Given the description of an element on the screen output the (x, y) to click on. 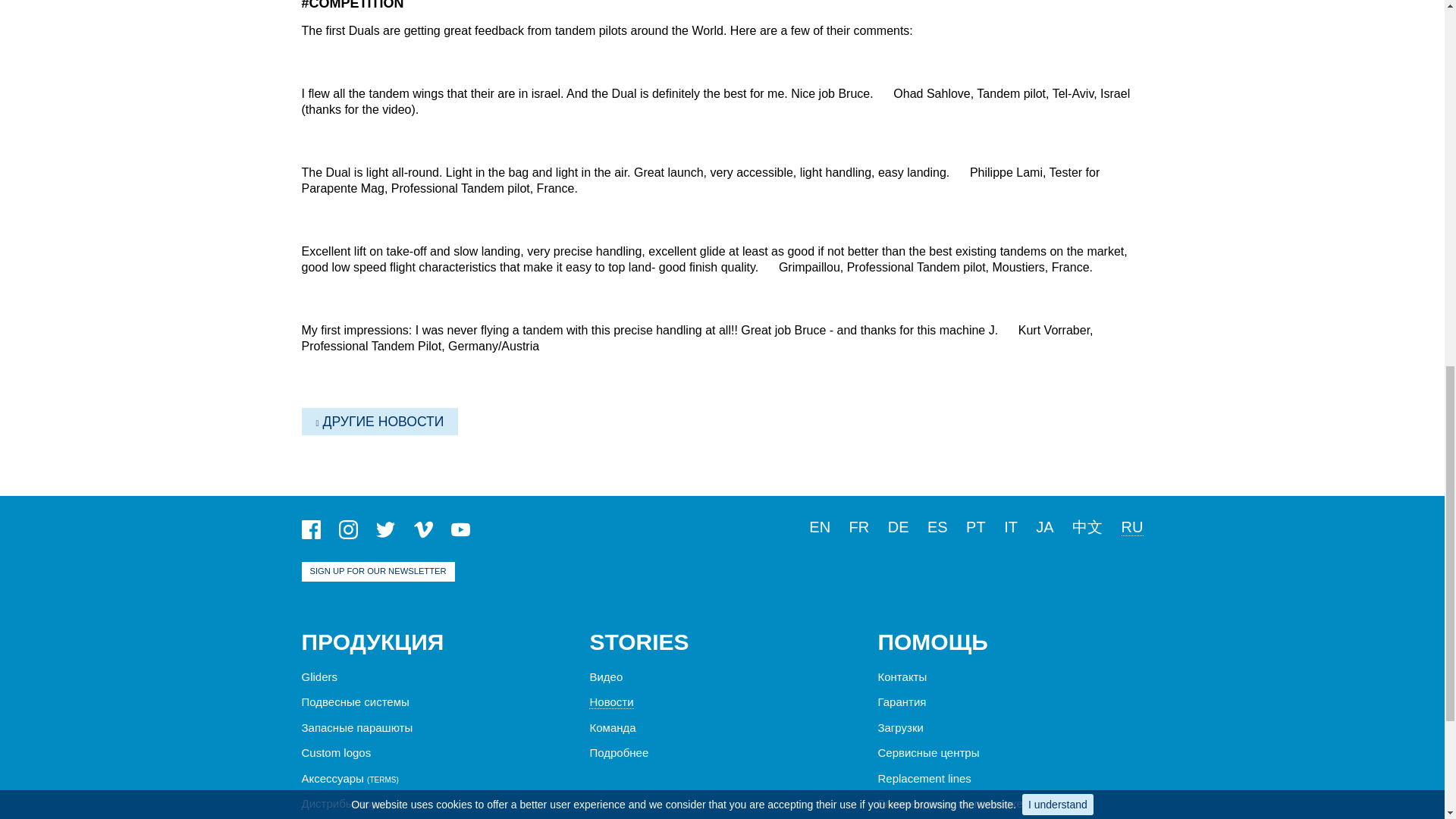
SIGN UP FOR OUR NEWSLETTER (377, 571)
